Given the description of an element on the screen output the (x, y) to click on. 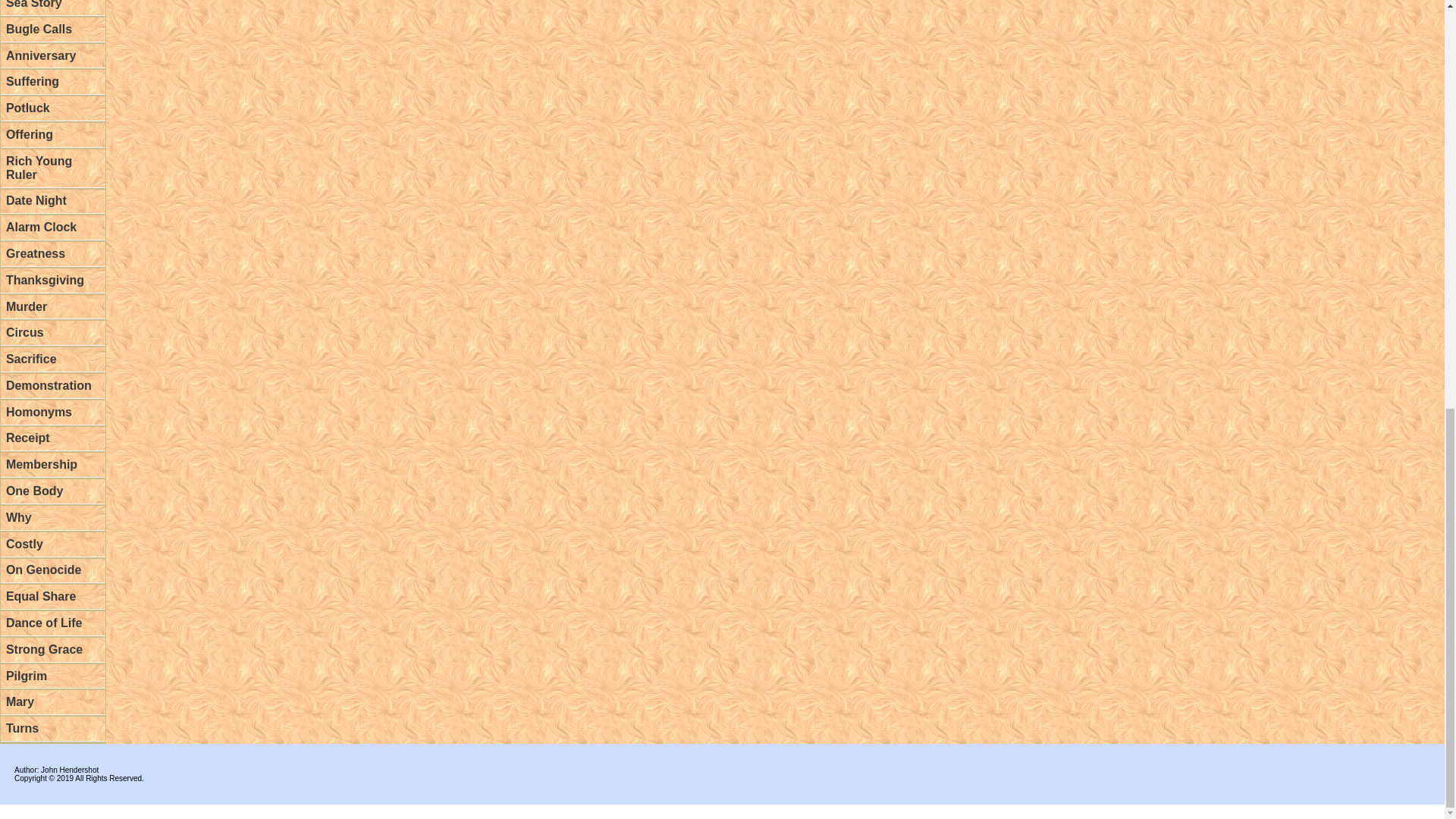
Circus (52, 333)
Sea Story (52, 7)
Greatness (52, 253)
Murder (52, 307)
Rich Young Ruler (52, 168)
Potluck (52, 108)
Suffering (52, 82)
Offering (52, 135)
Date Night (52, 201)
Thanksgiving (52, 280)
Bugle Calls (52, 29)
Anniversary (52, 56)
Alarm Clock (52, 227)
